Given the description of an element on the screen output the (x, y) to click on. 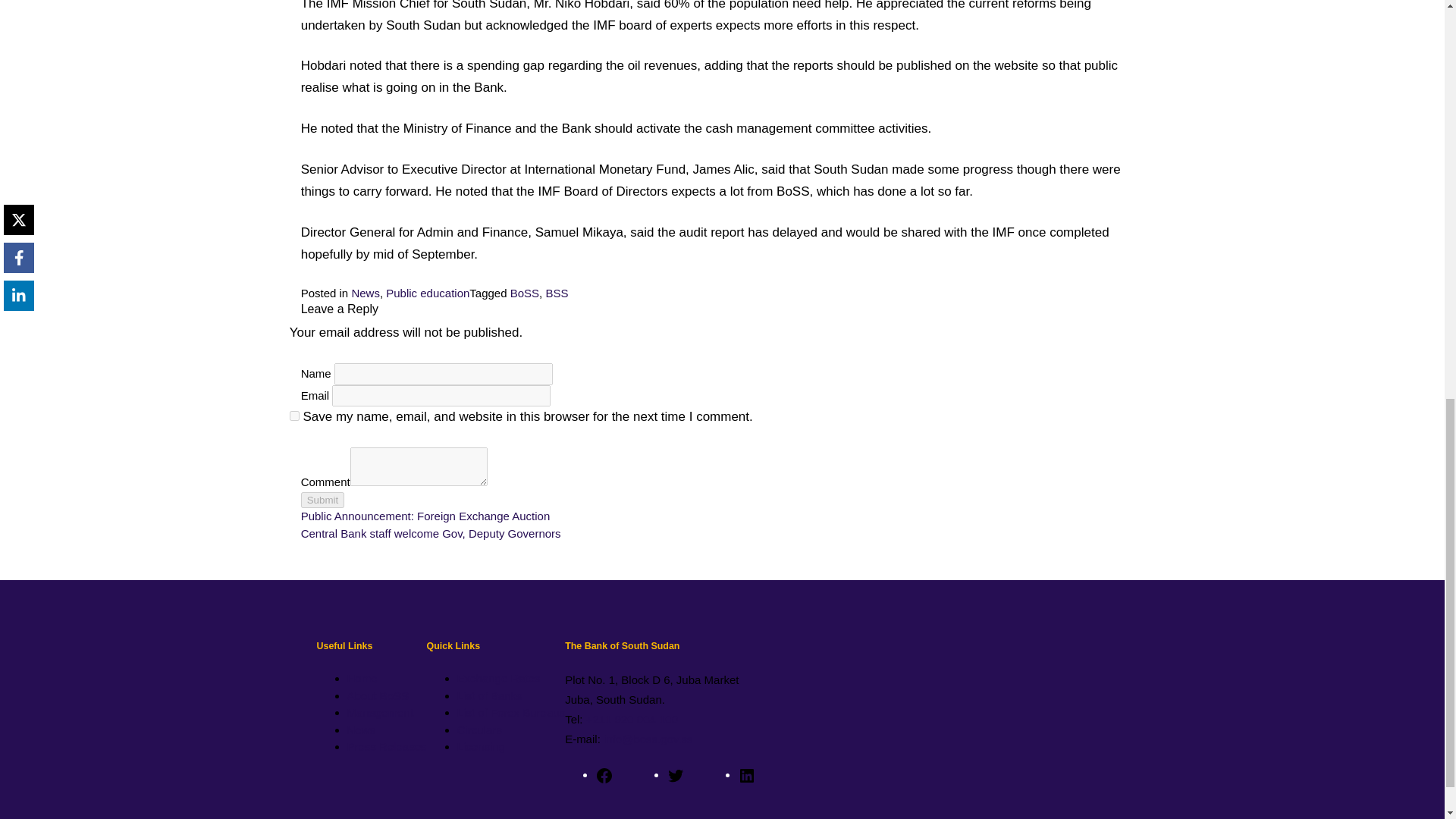
yes (294, 415)
